Given the description of an element on the screen output the (x, y) to click on. 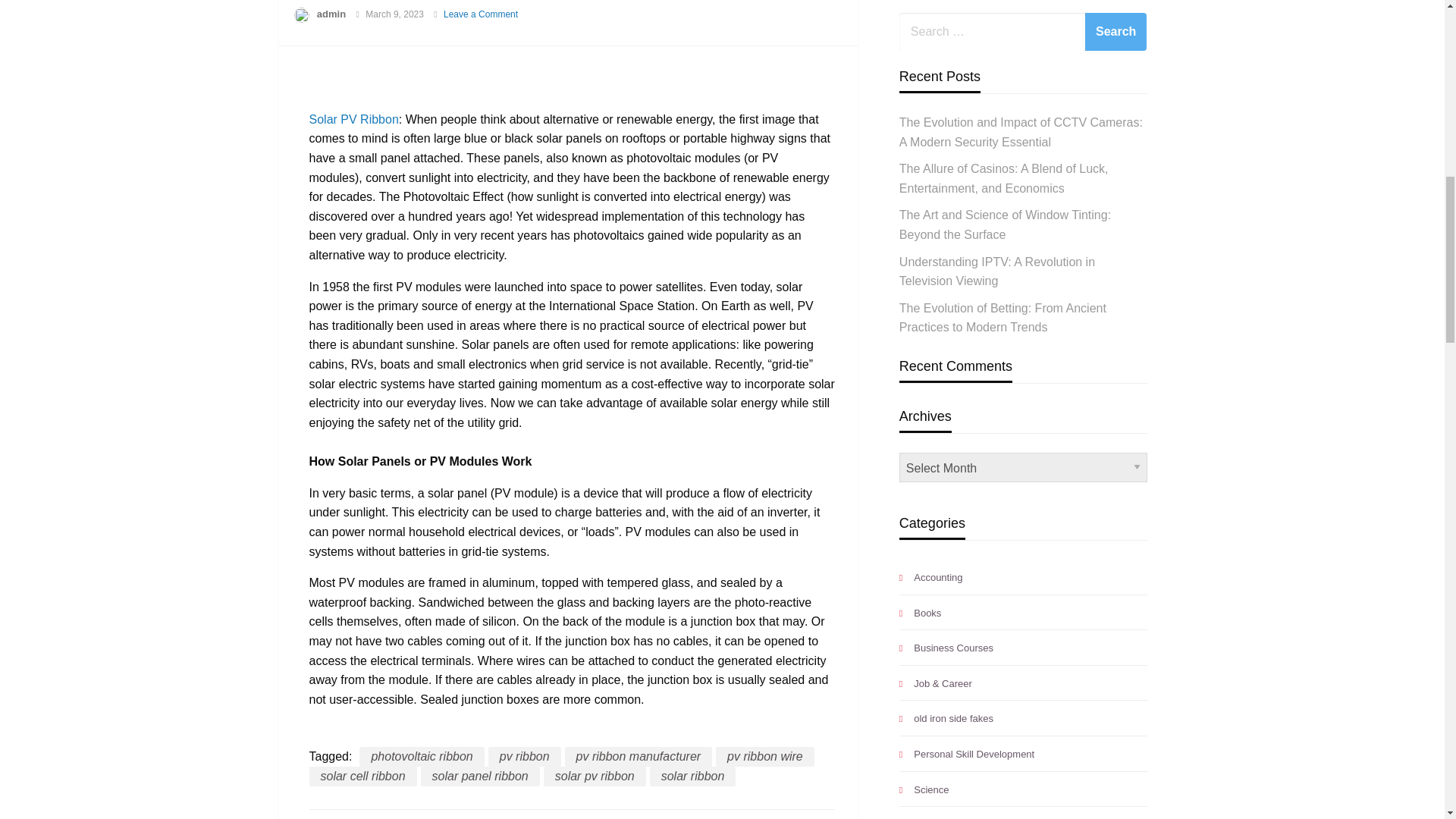
pv ribbon manufacturer (638, 756)
solar ribbon (692, 776)
admin (331, 13)
solar pv ribbon (594, 776)
Search (1115, 31)
photovoltaic ribbon (421, 756)
admin (331, 13)
pv ribbon (523, 756)
Solar PV Ribbon (353, 119)
